Given the description of an element on the screen output the (x, y) to click on. 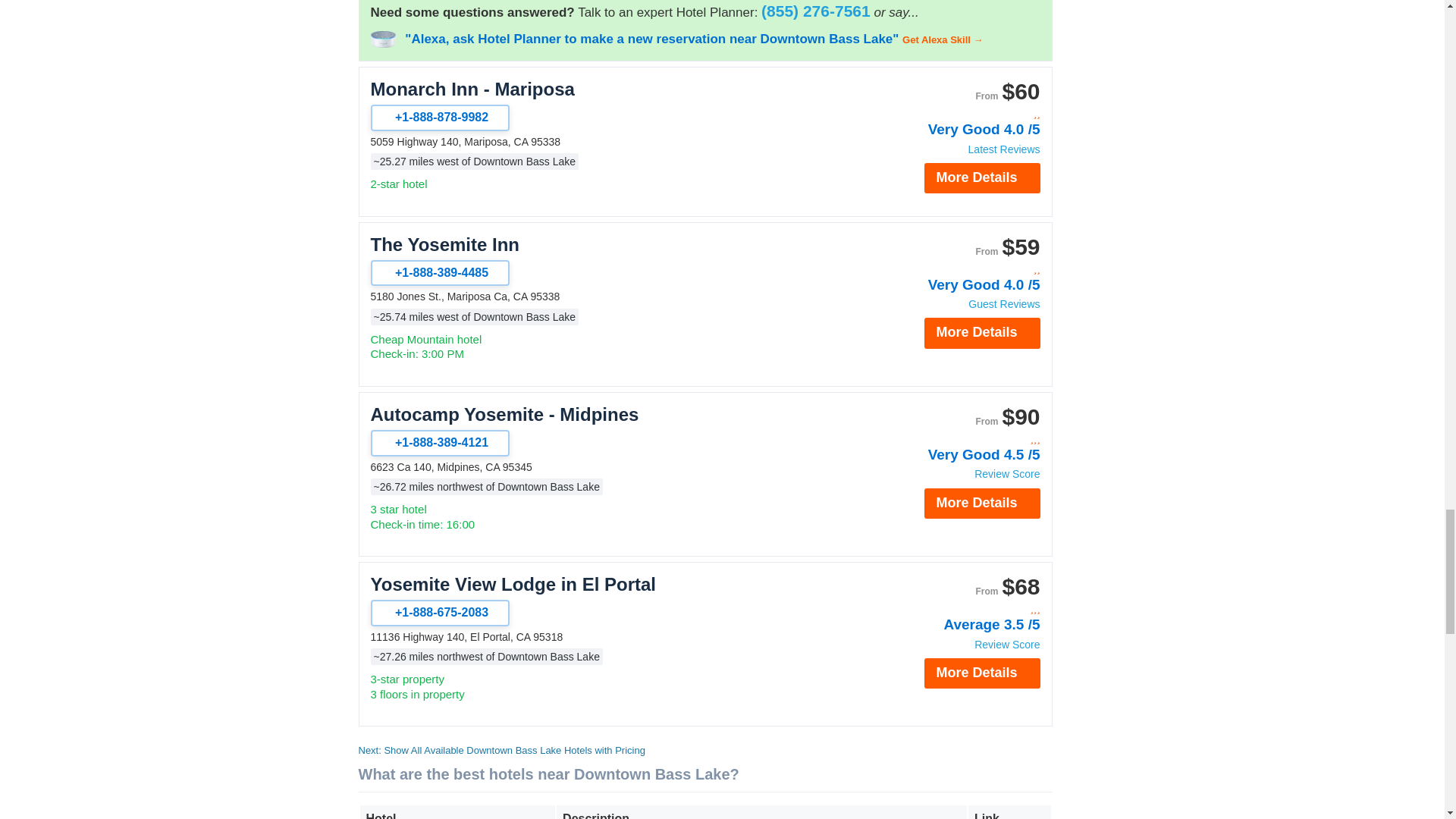
2 stars (958, 269)
3 stars (958, 439)
2 stars (958, 113)
3 stars (958, 608)
